Given the description of an element on the screen output the (x, y) to click on. 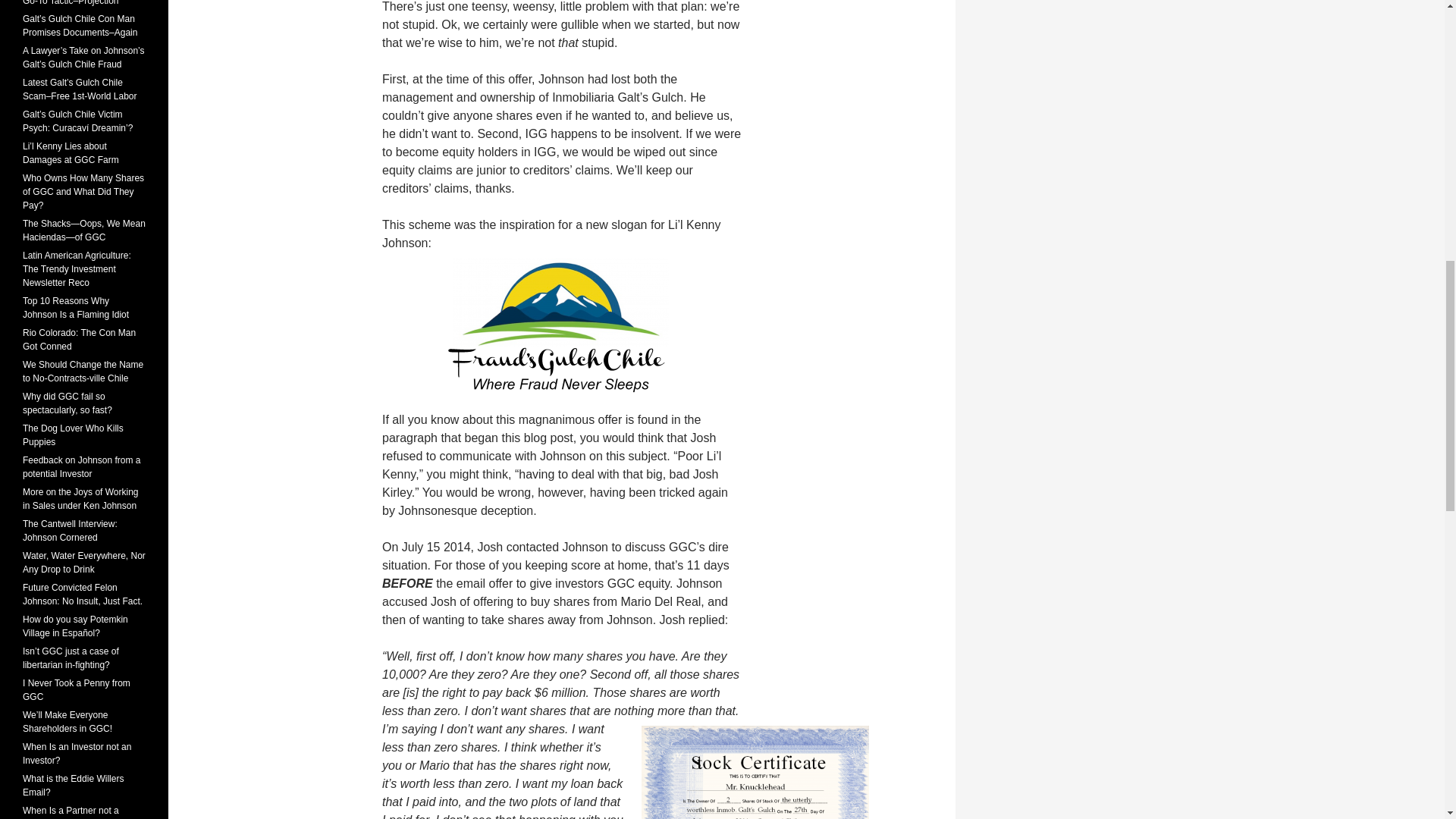
Top 10 Reasons Why Johnson Is a Flaming Idiot (76, 307)
We Should Change the Name to No-Contracts-ville Chile (82, 371)
Why did GGC fail so spectacularly, so fast? (67, 403)
Rio Colorado: The Con Man Got Conned (79, 339)
Who Owns How Many Shares of GGC and What Did They Pay? (83, 191)
